Given the description of an element on the screen output the (x, y) to click on. 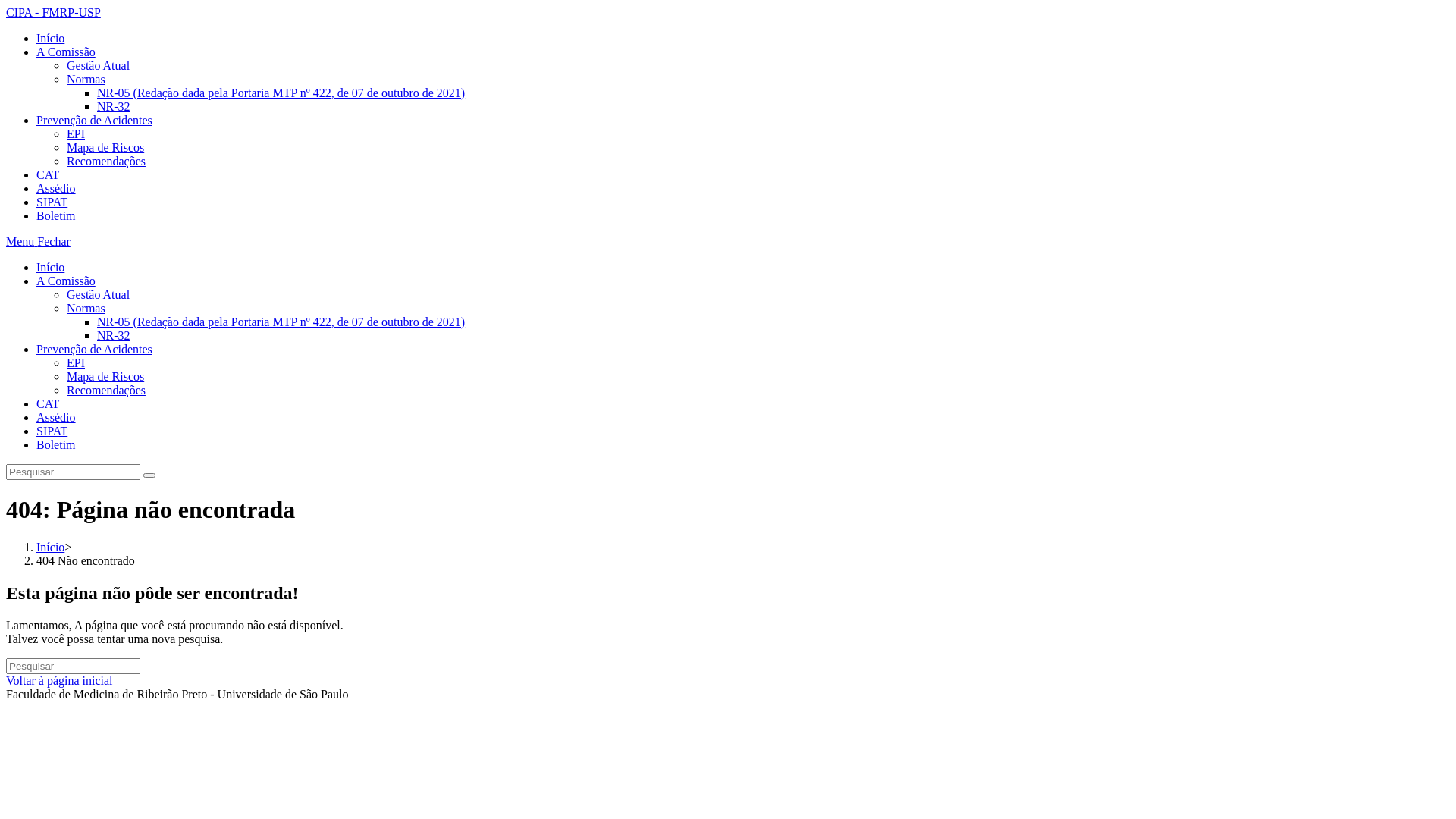
CAT Element type: text (47, 174)
CAT Element type: text (47, 403)
Mapa de Riscos Element type: text (105, 376)
Menu Fechar Element type: text (38, 241)
Mapa de Riscos Element type: text (105, 147)
Normas Element type: text (85, 78)
EPI Element type: text (75, 133)
Normas Element type: text (85, 307)
SIPAT Element type: text (51, 430)
NR-32 Element type: text (113, 335)
SIPAT Element type: text (51, 201)
CIPA - FMRP-USP Element type: text (53, 12)
EPI Element type: text (75, 362)
Boletim Element type: text (55, 215)
Boletim Element type: text (55, 444)
NR-32 Element type: text (113, 106)
